Given the description of an element on the screen output the (x, y) to click on. 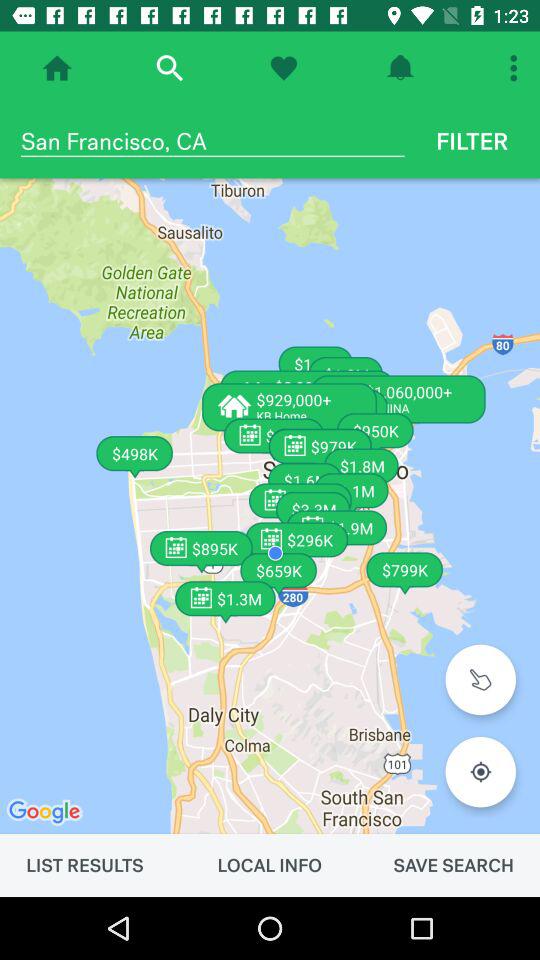
show favorites (283, 68)
